Given the description of an element on the screen output the (x, y) to click on. 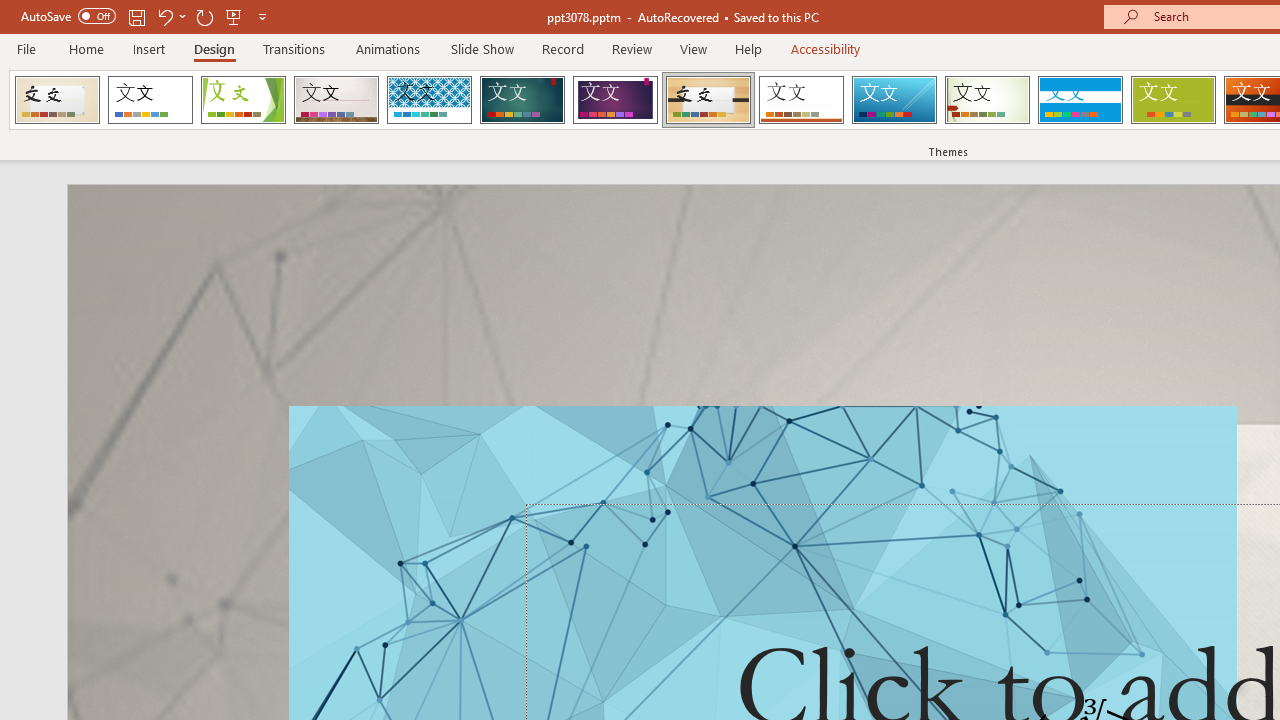
Retrospect (801, 100)
Slice (893, 100)
Quick Access Toolbar (145, 16)
Ion (522, 100)
Accessibility (825, 48)
Gallery (336, 100)
Organic (708, 100)
Wisp (987, 100)
Design (214, 48)
Banded (1080, 100)
File Tab (26, 48)
Customize Quick Access Toolbar (262, 15)
